Given the description of an element on the screen output the (x, y) to click on. 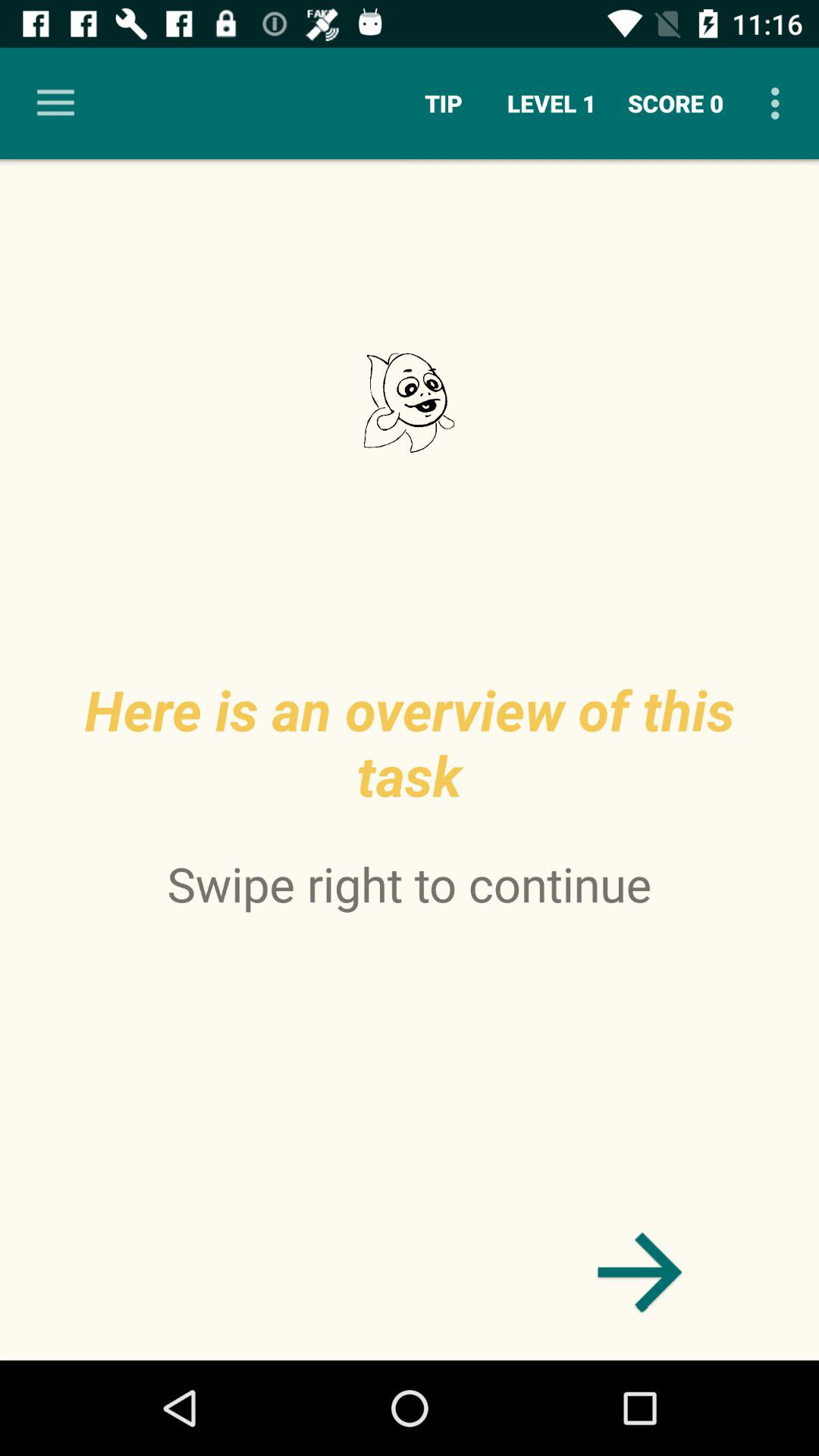
turn on item to the left of the tip icon (55, 103)
